Given the description of an element on the screen output the (x, y) to click on. 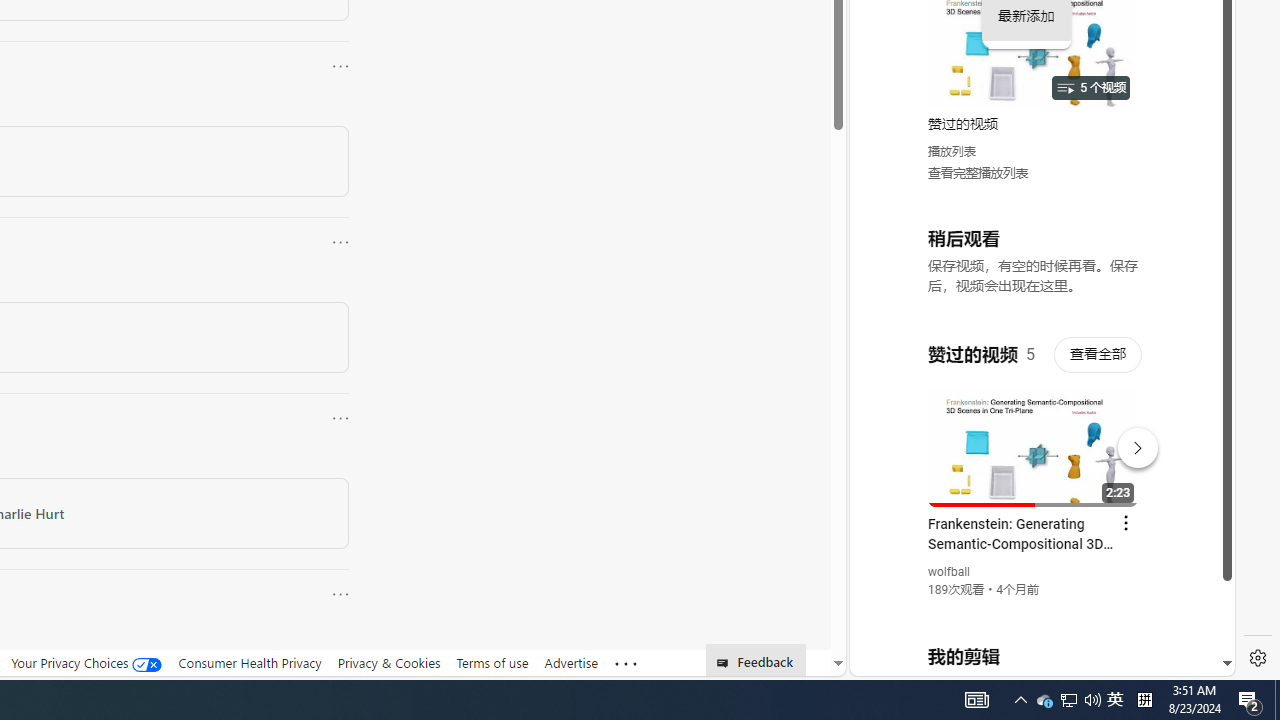
Your Privacy Choices (86, 662)
you (1034, 609)
wolfball (949, 572)
Your Privacy Choices (86, 663)
